Given the description of an element on the screen output the (x, y) to click on. 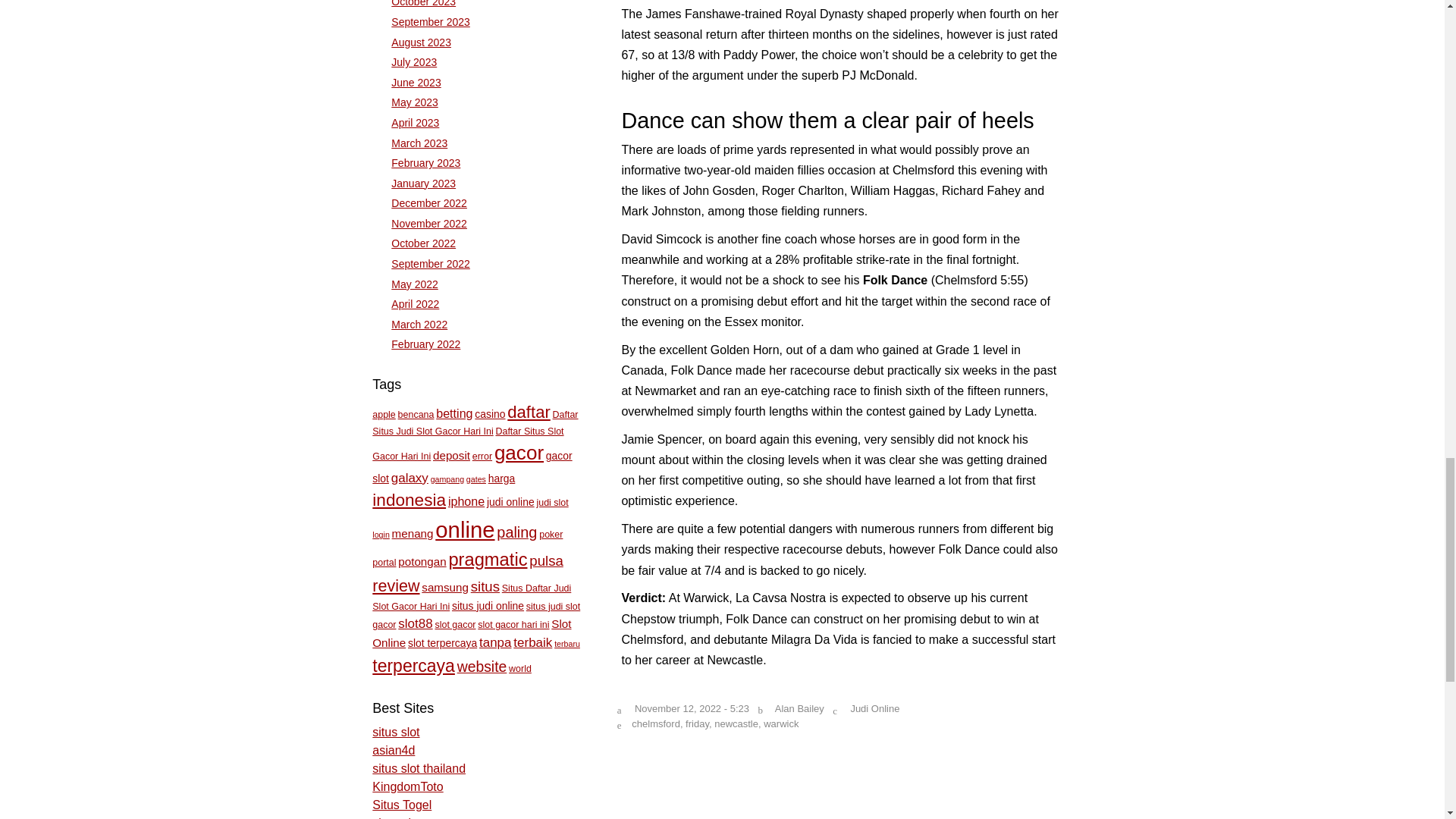
Alan Bailey (799, 708)
newcastle (736, 723)
chelmsford (655, 723)
Posts by Alan Bailey (799, 708)
warwick (779, 723)
November 12, 2022 - 5:23 (691, 708)
Judi Online (874, 708)
friday (697, 723)
